Given the description of an element on the screen output the (x, y) to click on. 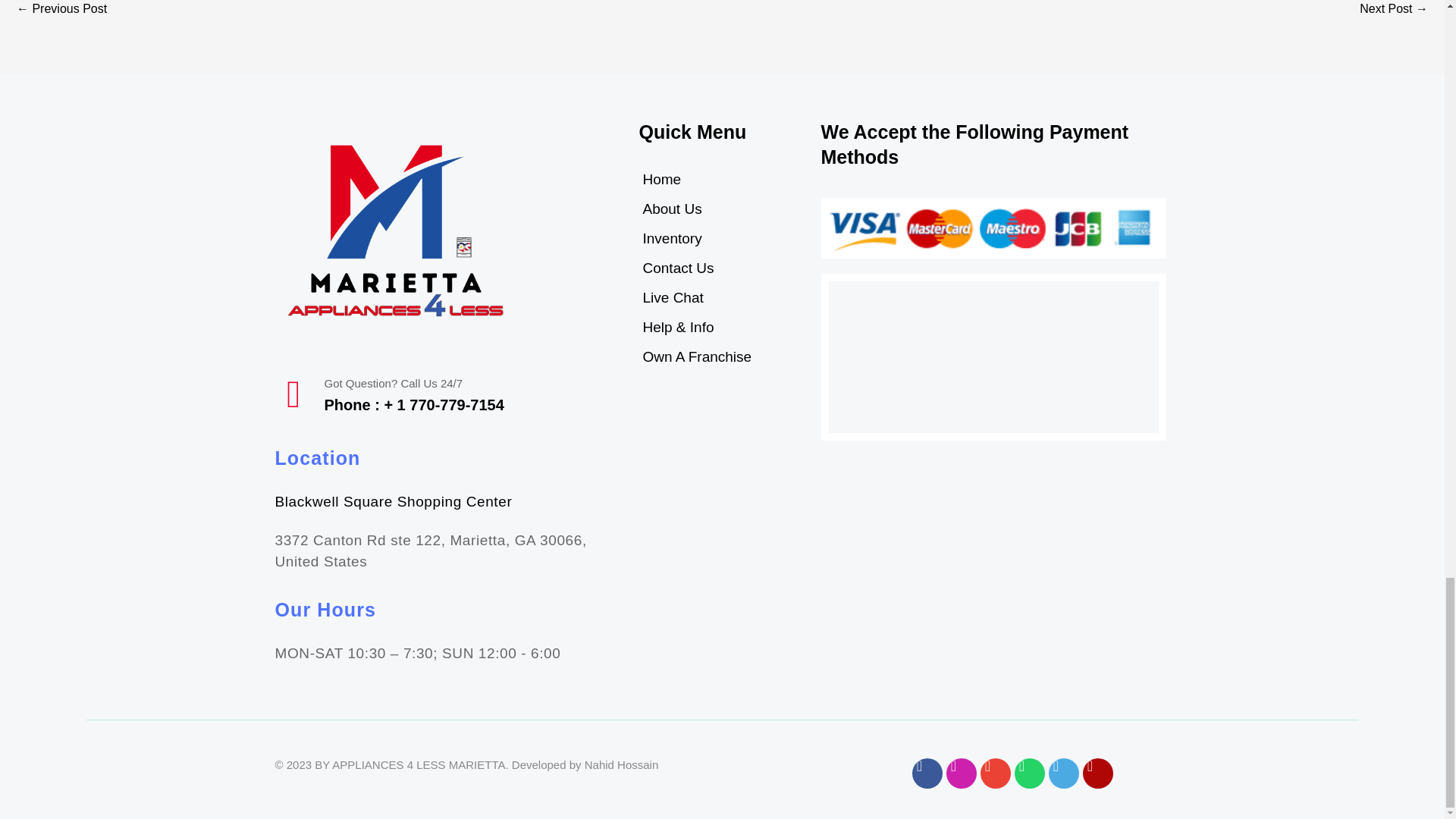
Appliances 4 Less Marietta (993, 357)
